Given the description of an element on the screen output the (x, y) to click on. 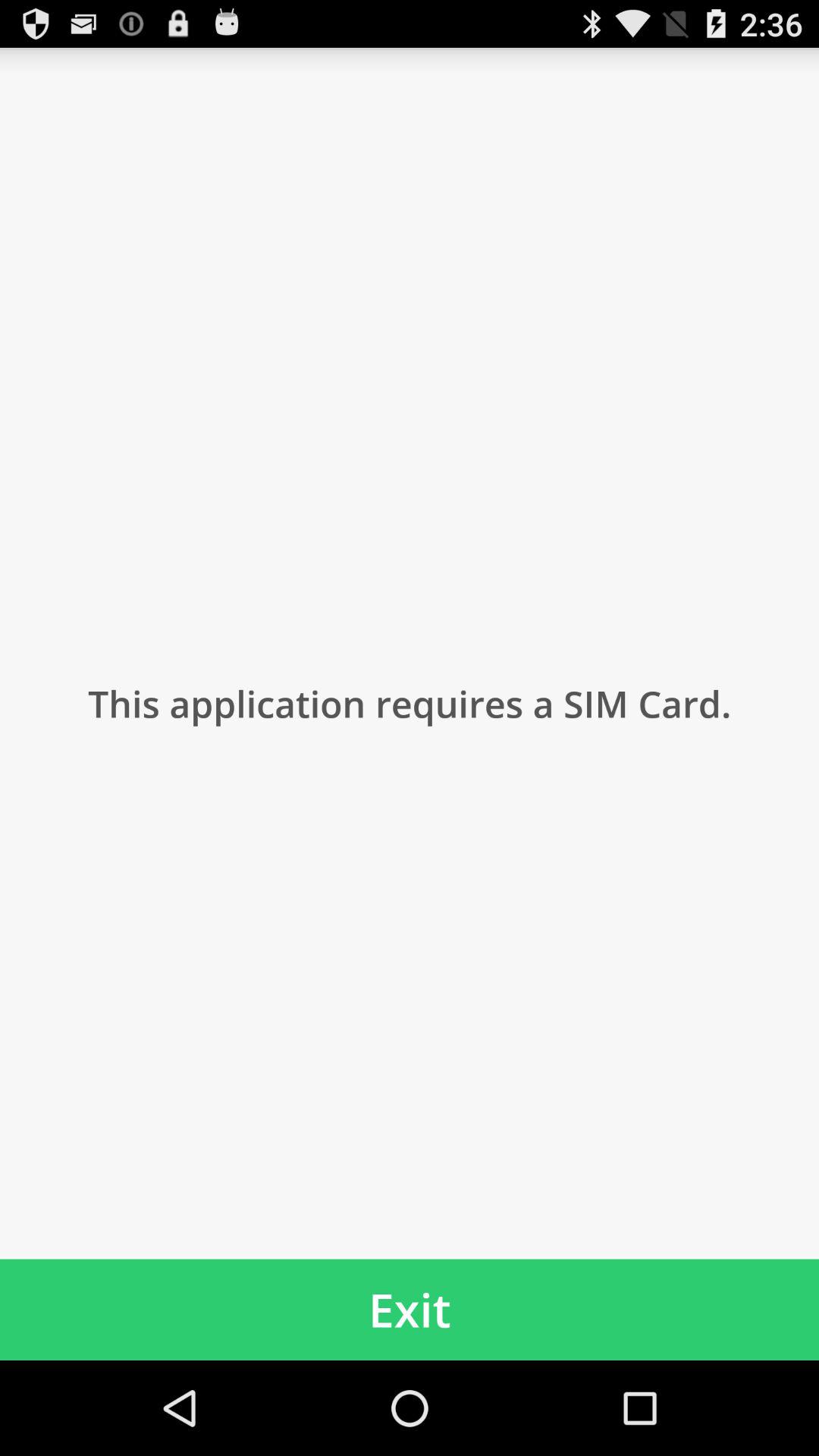
swipe until the exit item (409, 1309)
